Given the description of an element on the screen output the (x, y) to click on. 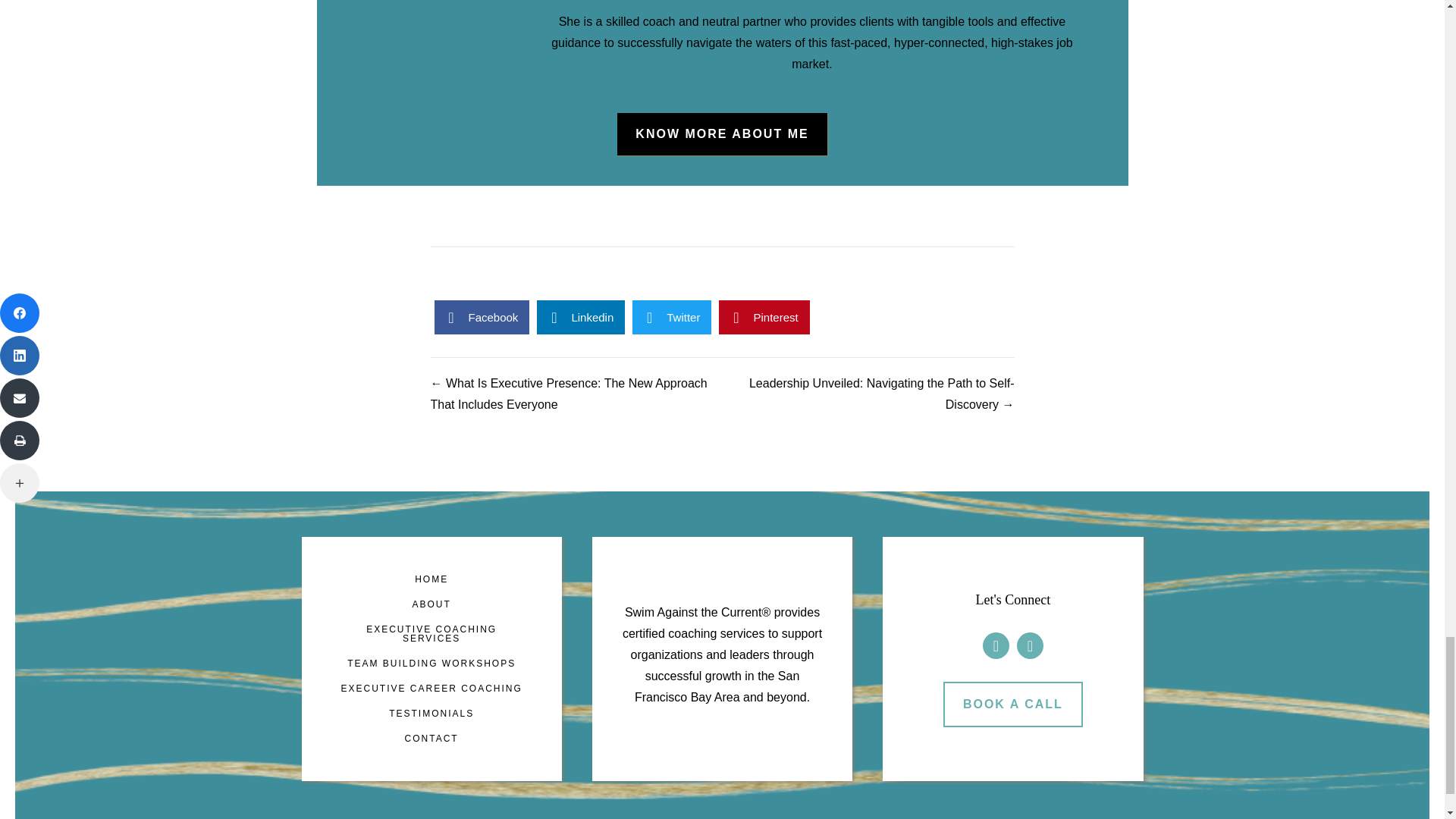
LinkedIn (995, 645)
KNOW MORE ABOUT ME (722, 134)
Linkedin (580, 317)
Pinterest (764, 317)
Facebook (481, 317)
Twitter (671, 317)
Facebook (1029, 645)
